Given the description of an element on the screen output the (x, y) to click on. 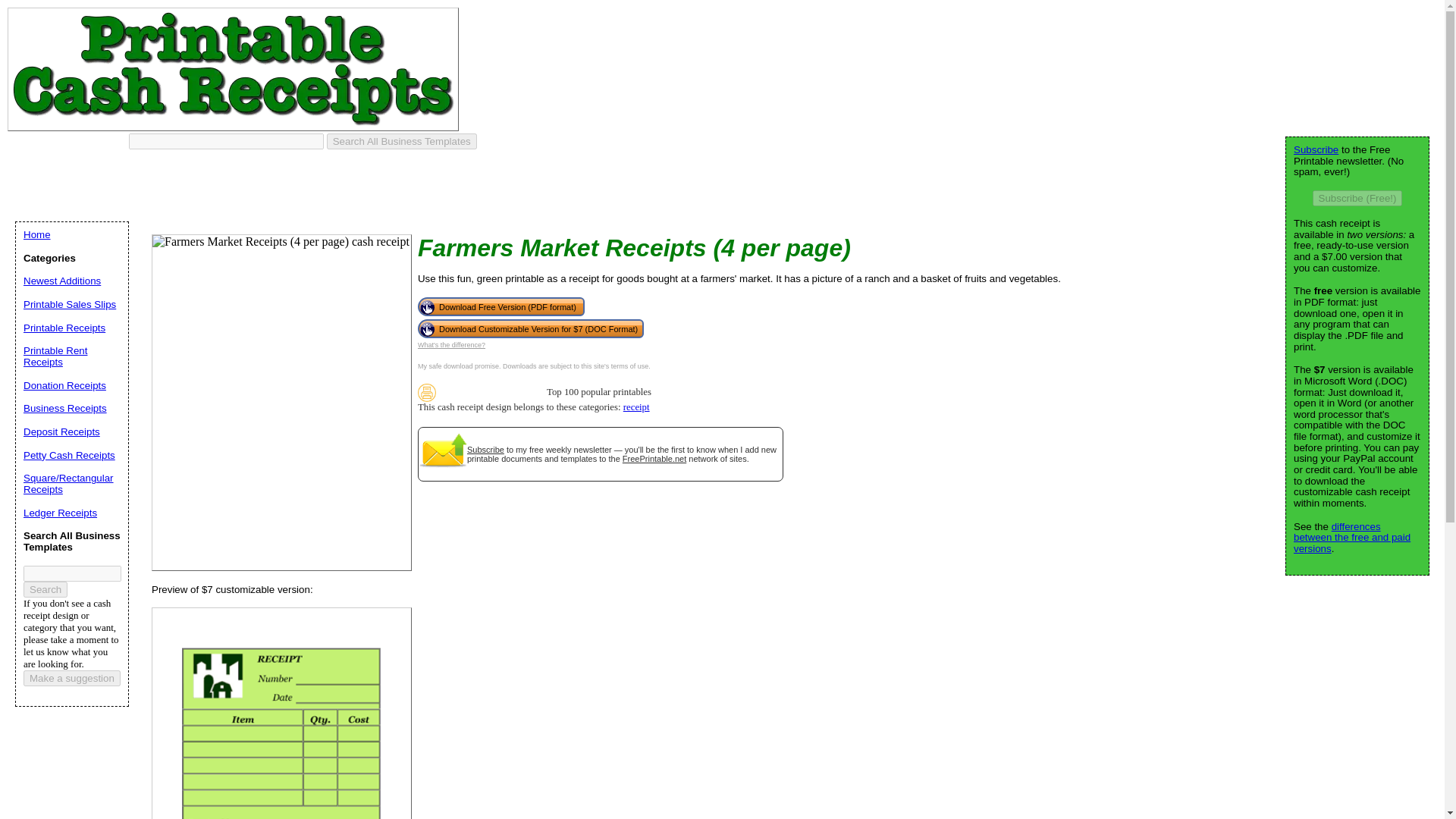
Make a suggestion (71, 678)
Donation Receipts (64, 385)
Search (44, 588)
What's the difference? (450, 344)
Top 100 popular printables (426, 393)
Search All Business Templates (401, 141)
Petty Cash Receipts (69, 455)
Printable Rent Receipts (55, 355)
Printable Sales Slips (69, 304)
receipt (636, 407)
differences between the free and paid versions (1352, 537)
Search All Business Templates (401, 141)
Printable Receipts (63, 327)
Ledger Receipts (60, 512)
FreePrintable.net (654, 458)
